Given the description of an element on the screen output the (x, y) to click on. 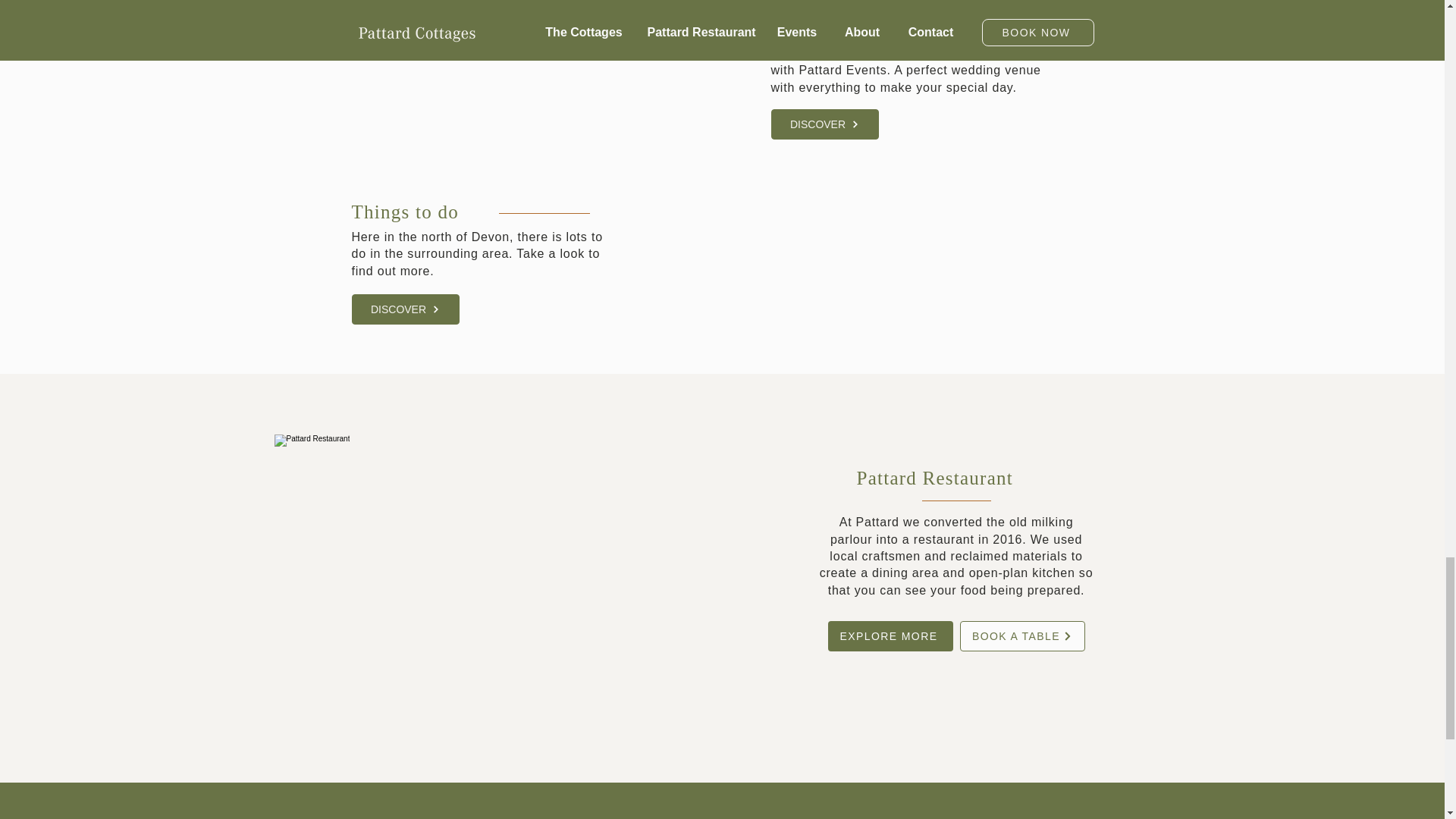
BOOK A TABLE (1021, 635)
pexels-mick-latter-12573941.jpeg (509, 82)
EXPLORE MORE (890, 635)
DISCOVER (406, 309)
DISCOVER (823, 123)
